Given the description of an element on the screen output the (x, y) to click on. 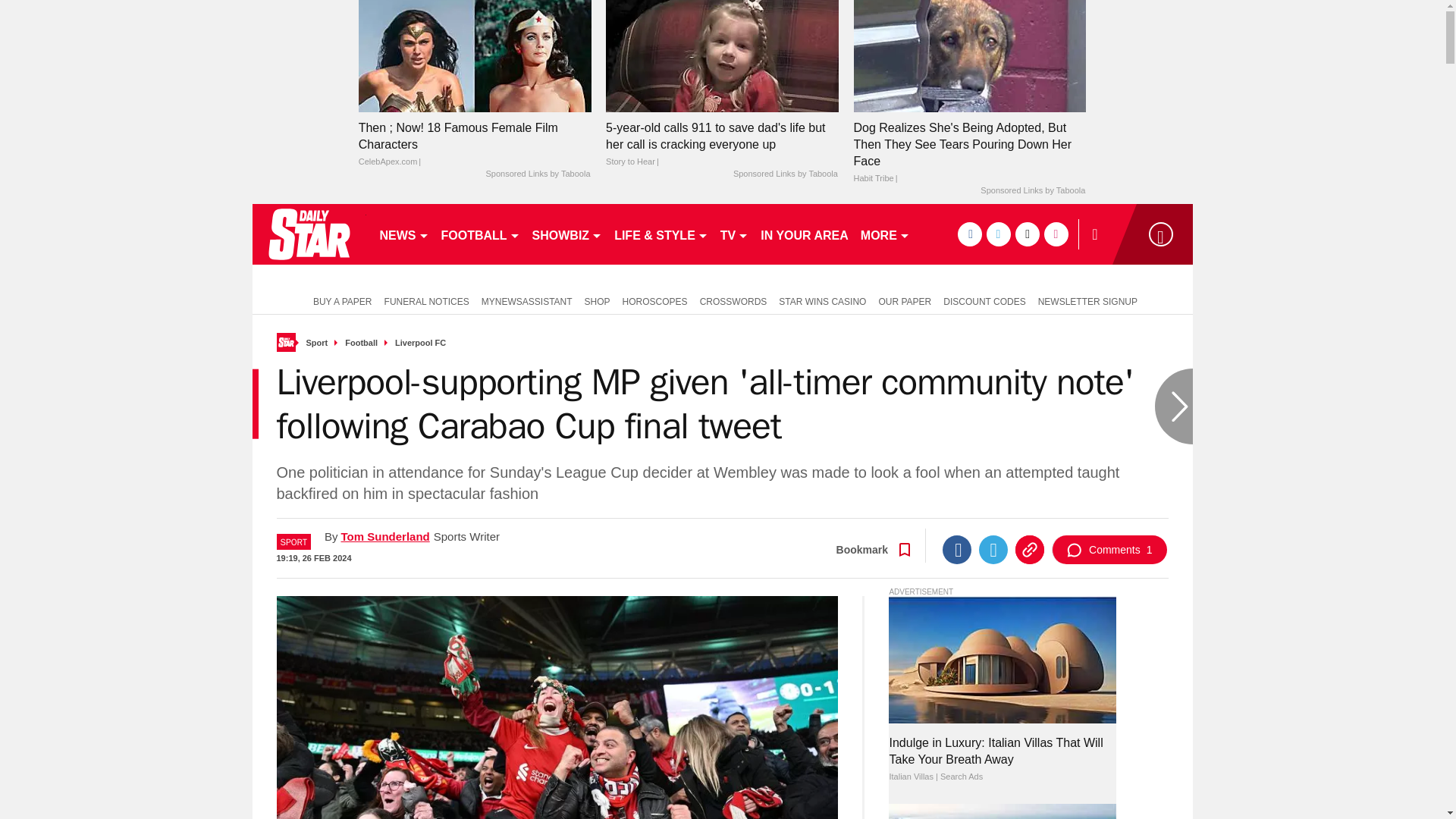
NEWS (402, 233)
FOOTBALL (480, 233)
Sponsored Links by Taboola (785, 174)
Twitter (992, 549)
Sponsored Links by Taboola (536, 174)
SHOWBIZ (566, 233)
instagram (1055, 233)
Then ; Now! 18 Famous Female Film Characters (474, 55)
dailystar (308, 233)
twitter (997, 233)
tiktok (1026, 233)
Facebook (956, 549)
